Given the description of an element on the screen output the (x, y) to click on. 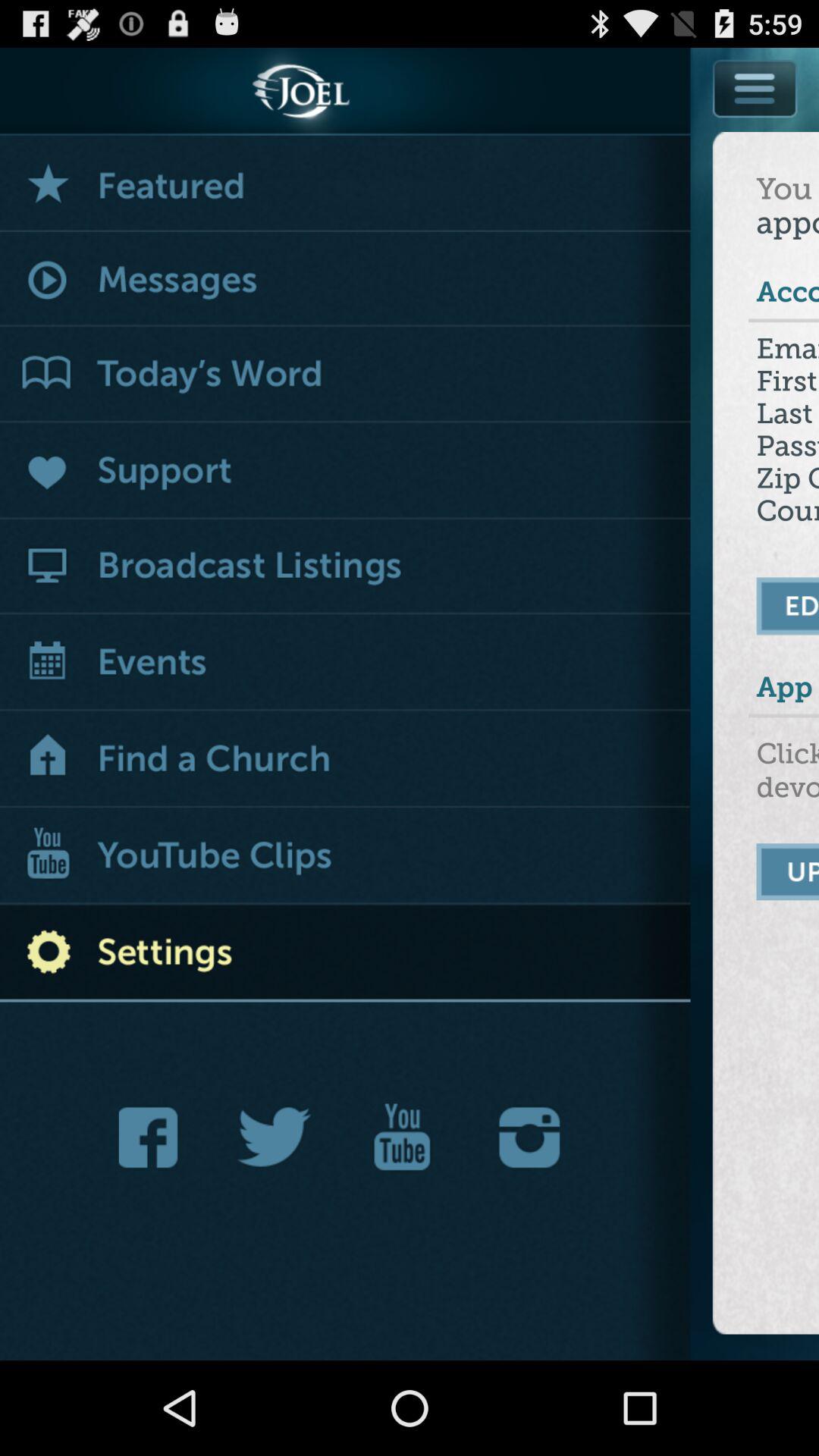
view content related to today 's world (345, 375)
